Given the description of an element on the screen output the (x, y) to click on. 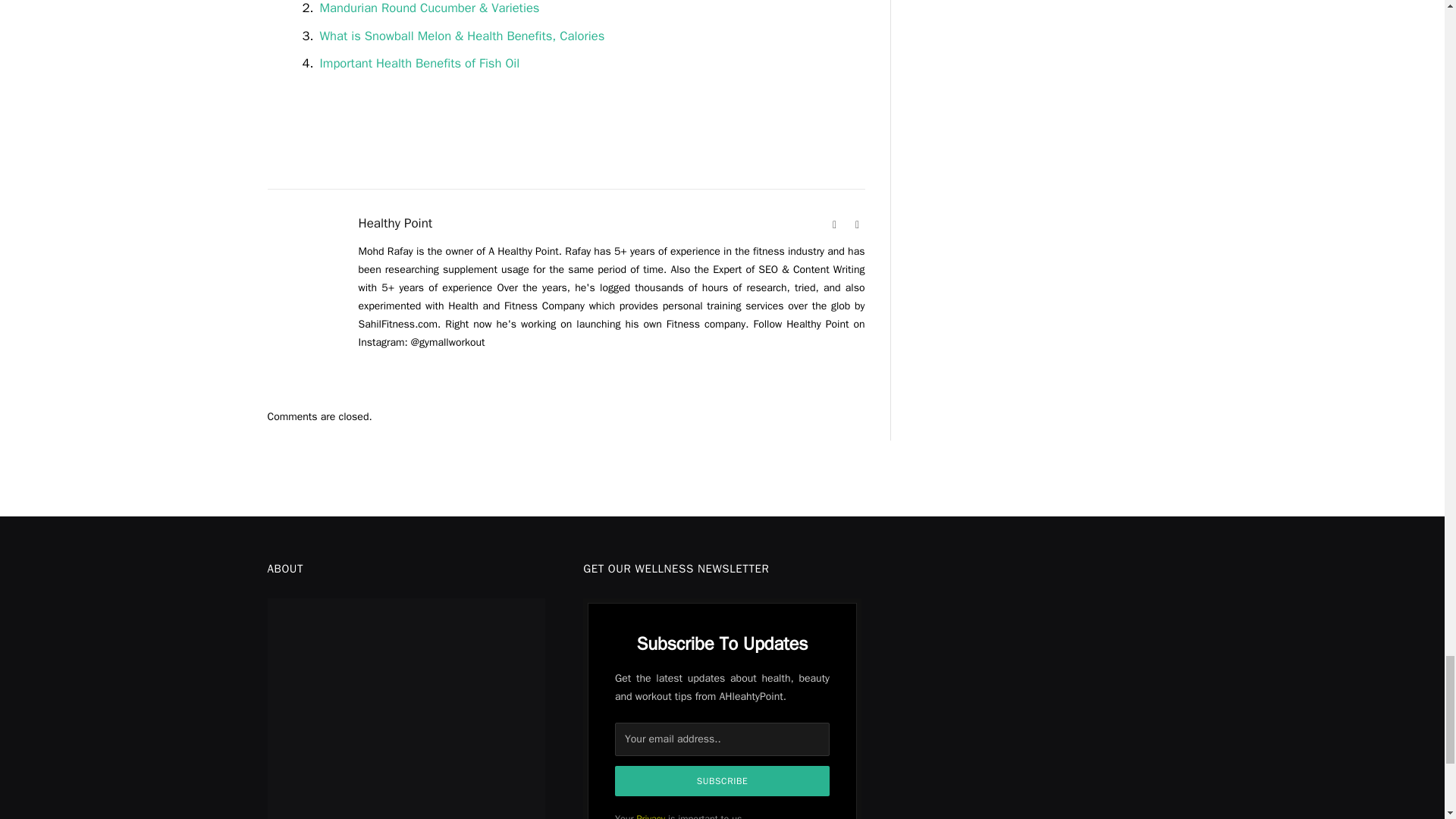
Important Health Benefits of Fish Oil (419, 63)
Website (834, 224)
Subscribe (721, 780)
Instagram (856, 224)
Posts by Healthy Point (395, 223)
